Given the description of an element on the screen output the (x, y) to click on. 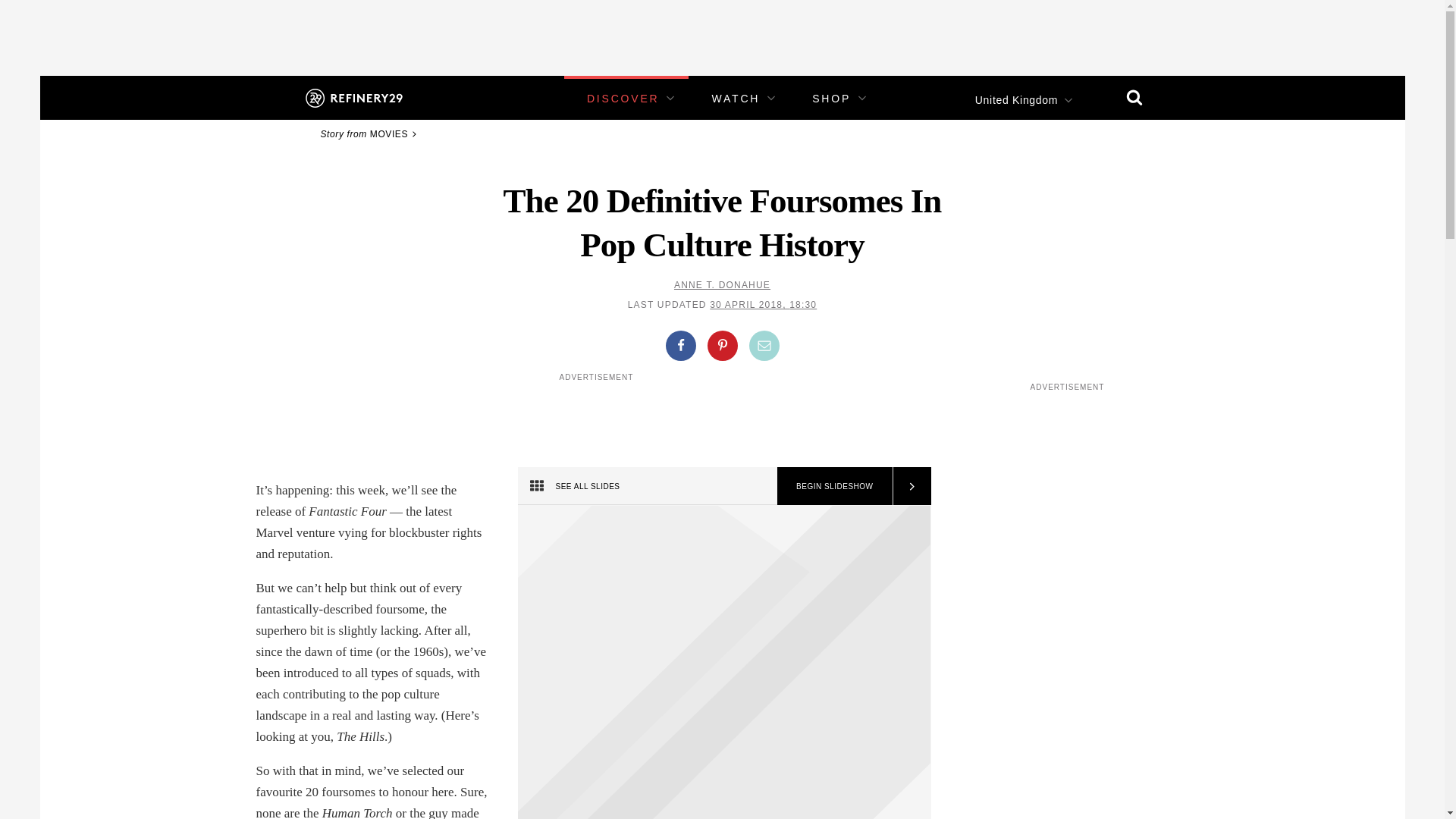
Story from MOVIES (371, 133)
Begin Slideshow (834, 485)
ANNE T. DONAHUE (722, 285)
DISCOVER (622, 98)
SHOP (831, 98)
Share by Email (763, 345)
30 APRIL 2018, 18:30 (763, 304)
Refinery29 (352, 97)
Next Slide (910, 485)
BEGIN SLIDESHOW (834, 485)
